Given the description of an element on the screen output the (x, y) to click on. 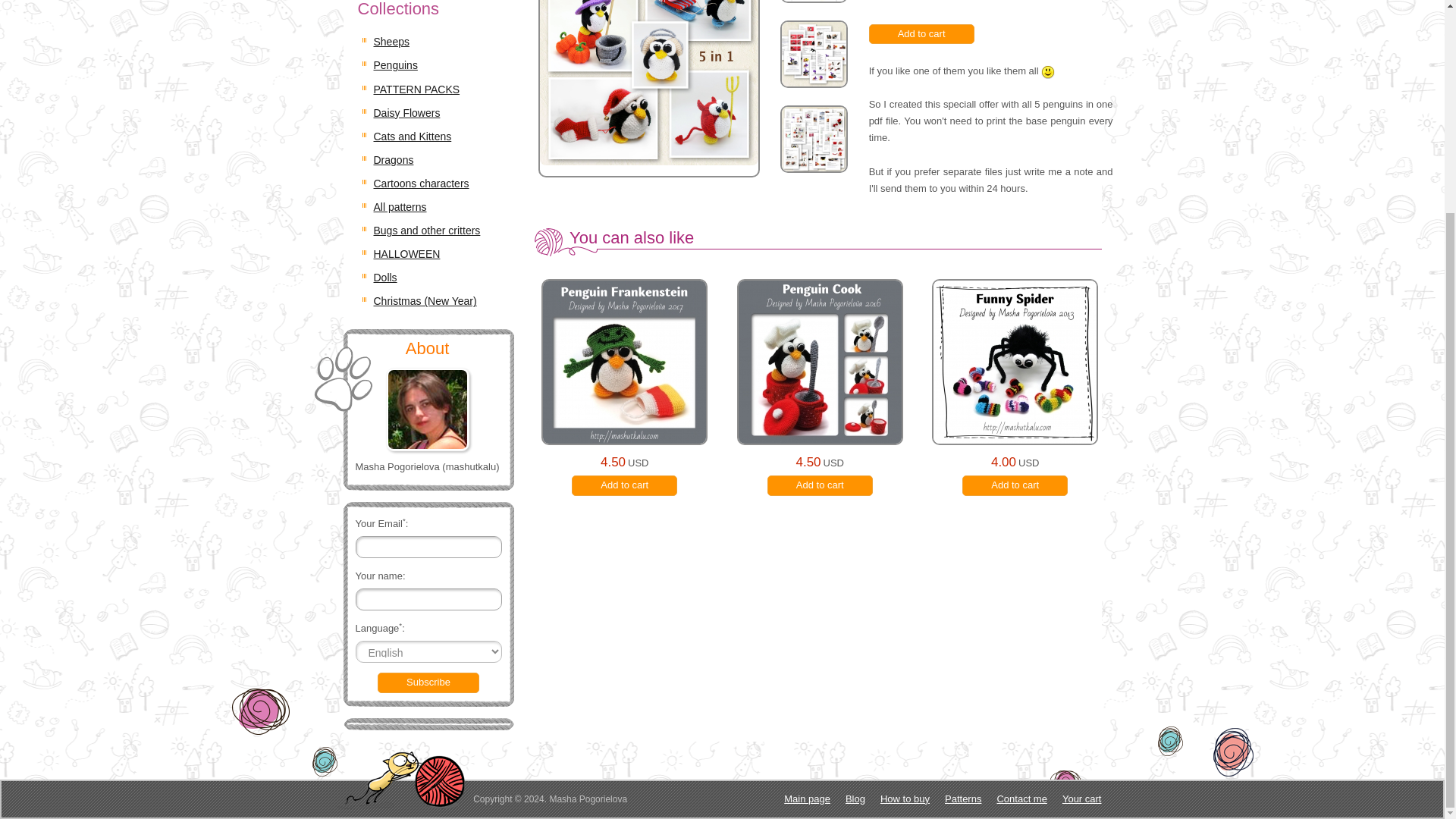
All patterns (399, 206)
Add to cart (624, 485)
Main page (806, 798)
Subscribe (428, 682)
Funny Spider (1014, 387)
Add to cart (921, 34)
Sheeps (390, 41)
Add to cart (1014, 485)
Subscribe (428, 682)
Bugs and other critters (426, 230)
Penguin Cook (819, 387)
Penguins (394, 64)
Cartoons characters (420, 183)
Dragons (392, 159)
HALLOWEEN (405, 254)
